Given the description of an element on the screen output the (x, y) to click on. 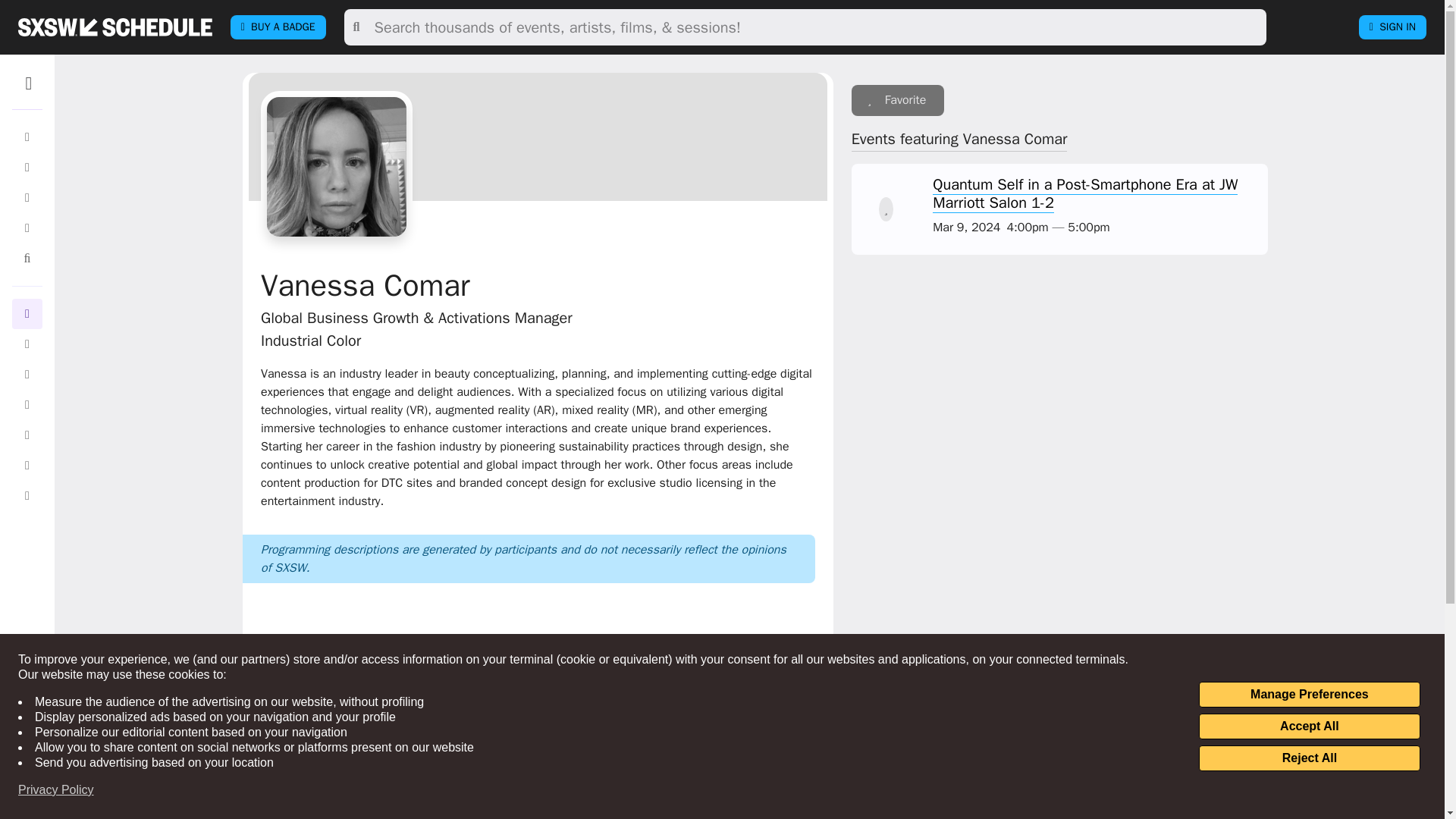
Manage Preferences (1309, 694)
sxsw SCHEDULE (114, 27)
Sign In to add to your favorites. (897, 100)
Accept All (1309, 726)
BUY A BADGE (278, 27)
SIGN IN (1392, 27)
Reject All (1309, 758)
Privacy Policy (55, 789)
